Given the description of an element on the screen output the (x, y) to click on. 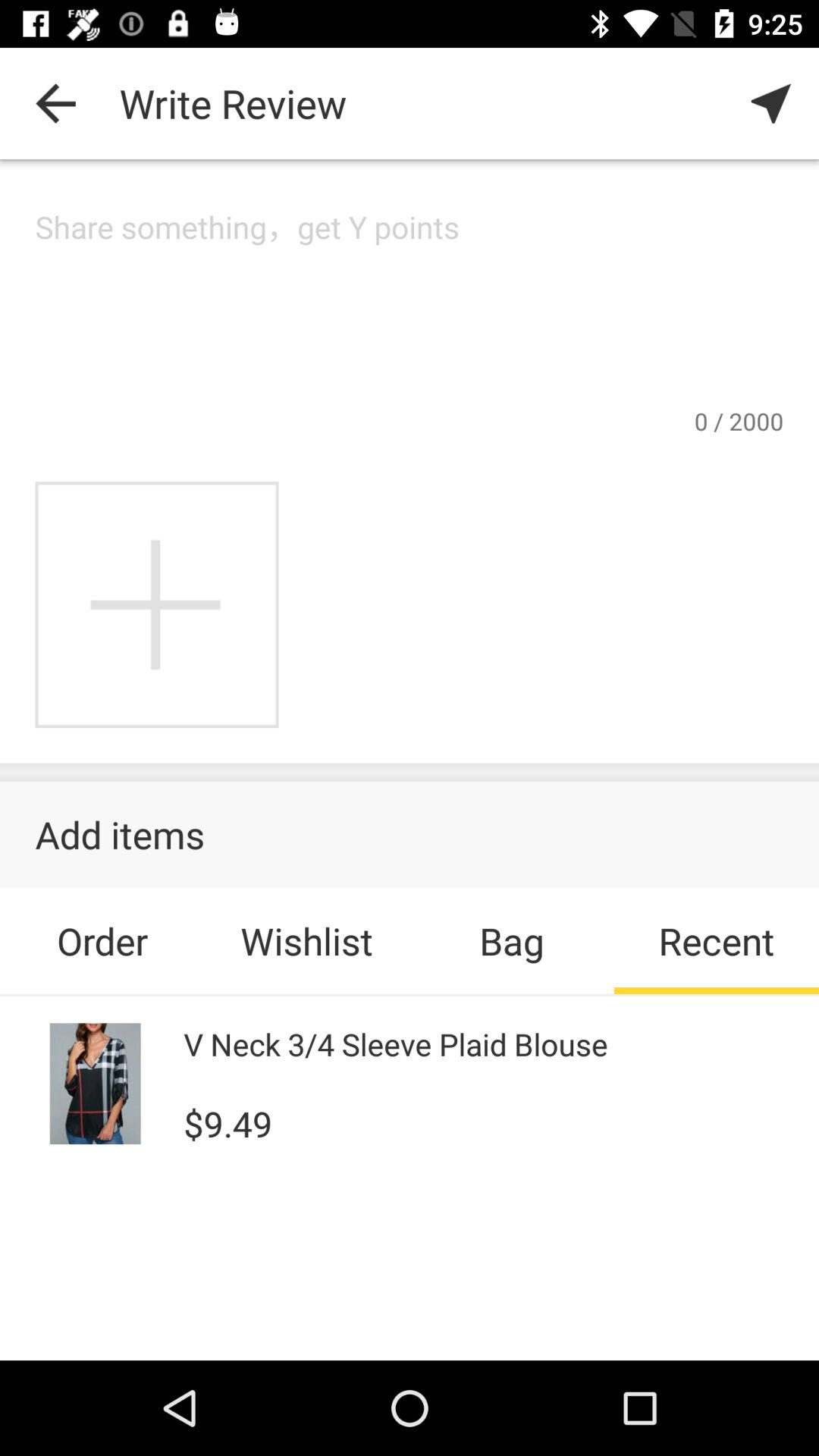
add option (156, 604)
